Given the description of an element on the screen output the (x, y) to click on. 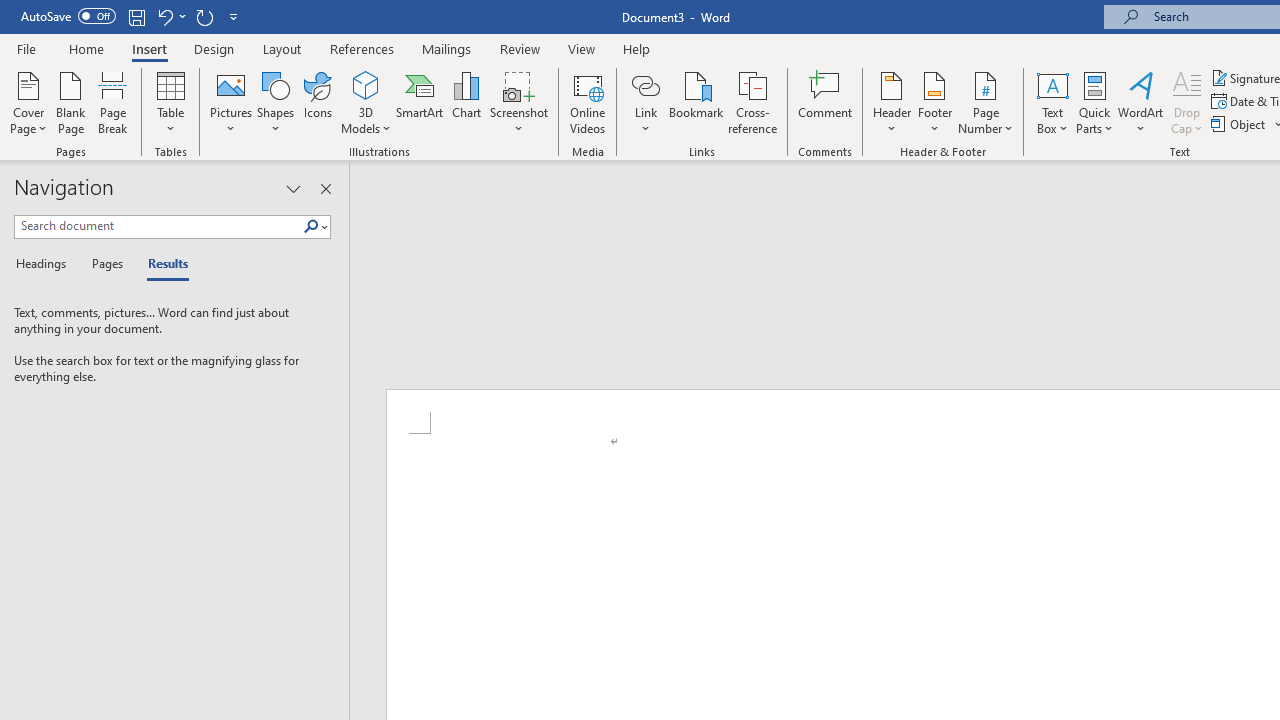
Chart... (466, 102)
Task Pane Options (293, 188)
Pages (105, 264)
Text Box (1052, 102)
Insert (149, 48)
Save (136, 15)
Link (645, 84)
3D Models (366, 102)
Bookmark... (695, 102)
Footer (934, 102)
Table (170, 102)
Design (214, 48)
Screenshot (518, 102)
Online Videos... (588, 102)
Header (891, 102)
